Given the description of an element on the screen output the (x, y) to click on. 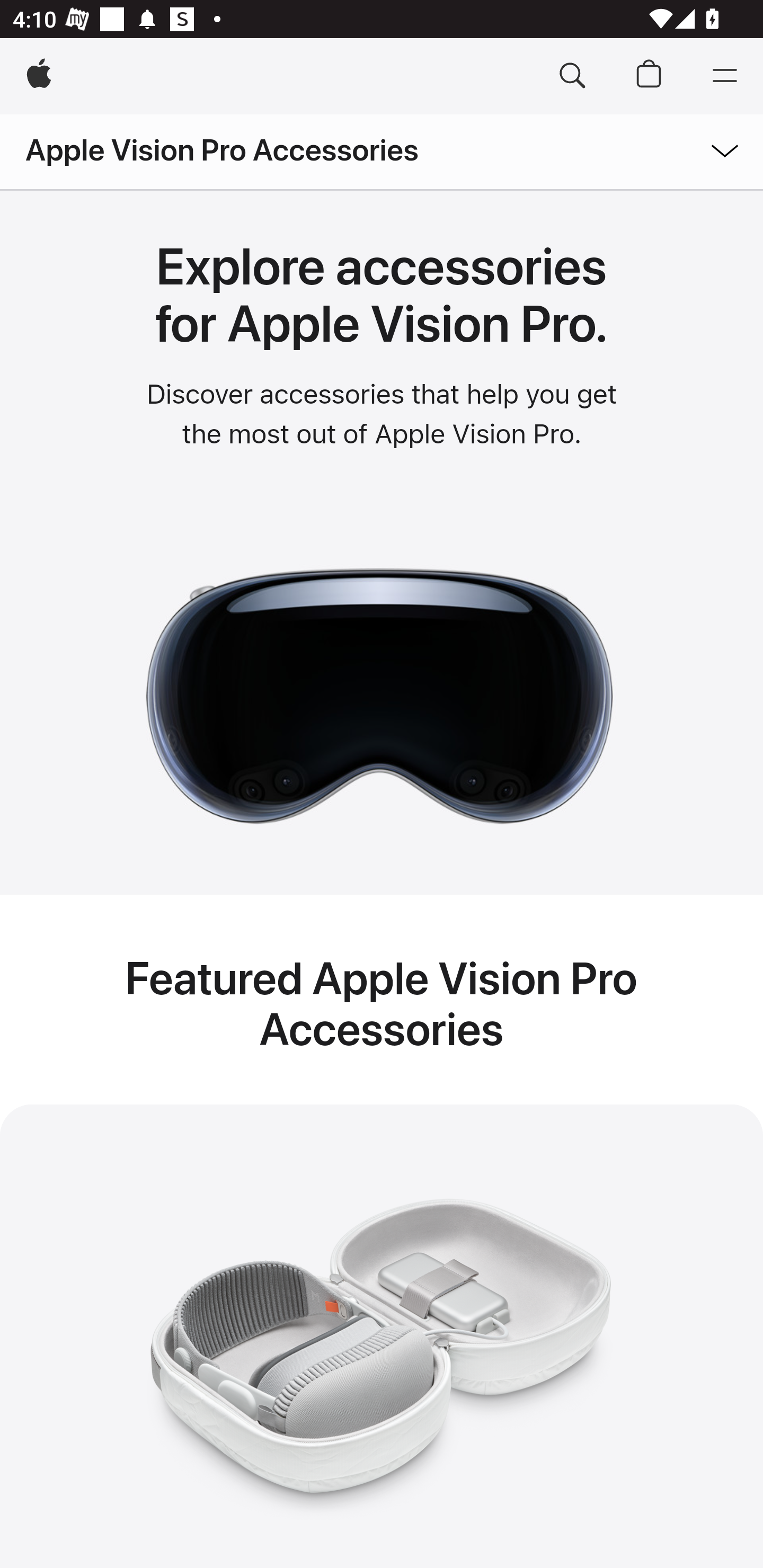
Apple (38, 75)
Search apple.com (572, 75)
Shopping Bag (648, 75)
Menu (724, 75)
Browse all (699, 147)
